Given the description of an element on the screen output the (x, y) to click on. 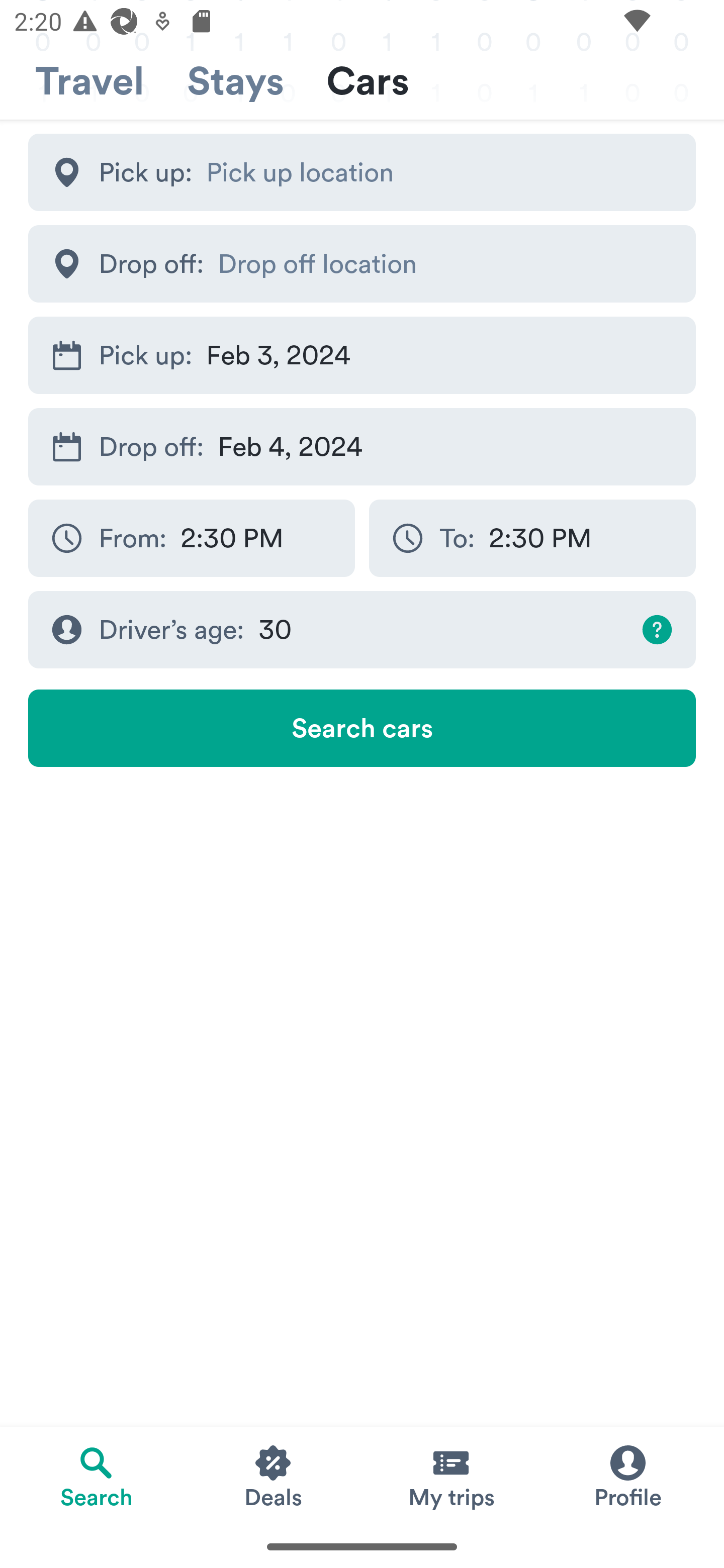
Travel (89, 81)
Stays (235, 81)
Cars (367, 81)
Pick up: (361, 172)
Drop off: (361, 263)
Pick up: Feb 3, 2024 (361, 355)
Drop off: Feb 4, 2024 (361, 446)
From: 2:30 PM (191, 537)
To: 2:30 PM (532, 537)
Driver’s age: 30 (361, 630)
Search cars (361, 727)
Deals (273, 1475)
My trips (450, 1475)
Profile (627, 1475)
